Given the description of an element on the screen output the (x, y) to click on. 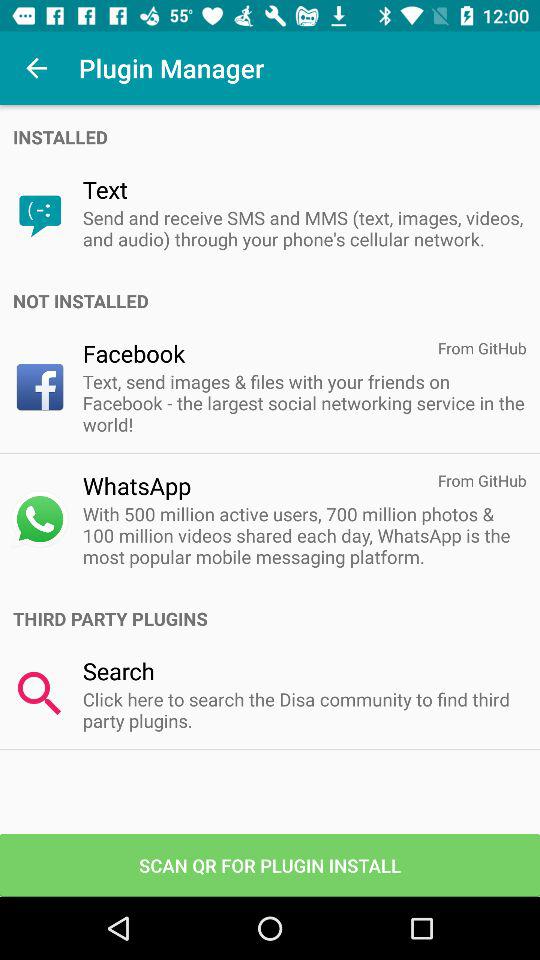
select icon next to plugin manager (36, 68)
